Given the description of an element on the screen output the (x, y) to click on. 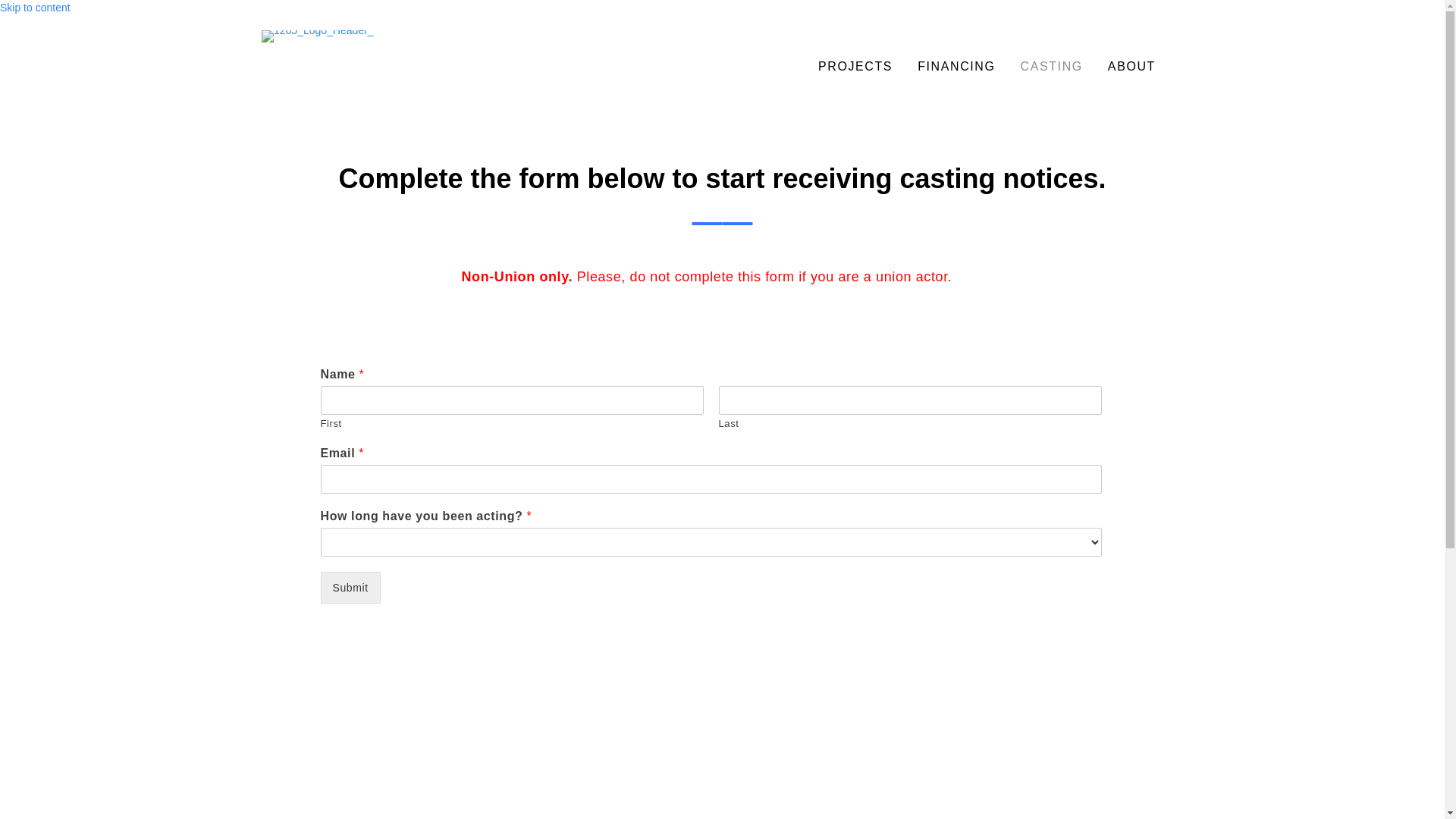
CASTING Element type: text (1051, 66)
Skip to content Element type: text (35, 7)
Submit Element type: text (349, 587)
ABOUT Element type: text (1131, 66)
FINANCING Element type: text (956, 66)
1265_Logo_Header_ Element type: hover (317, 36)
PROJECTS Element type: text (855, 66)
